Given the description of an element on the screen output the (x, y) to click on. 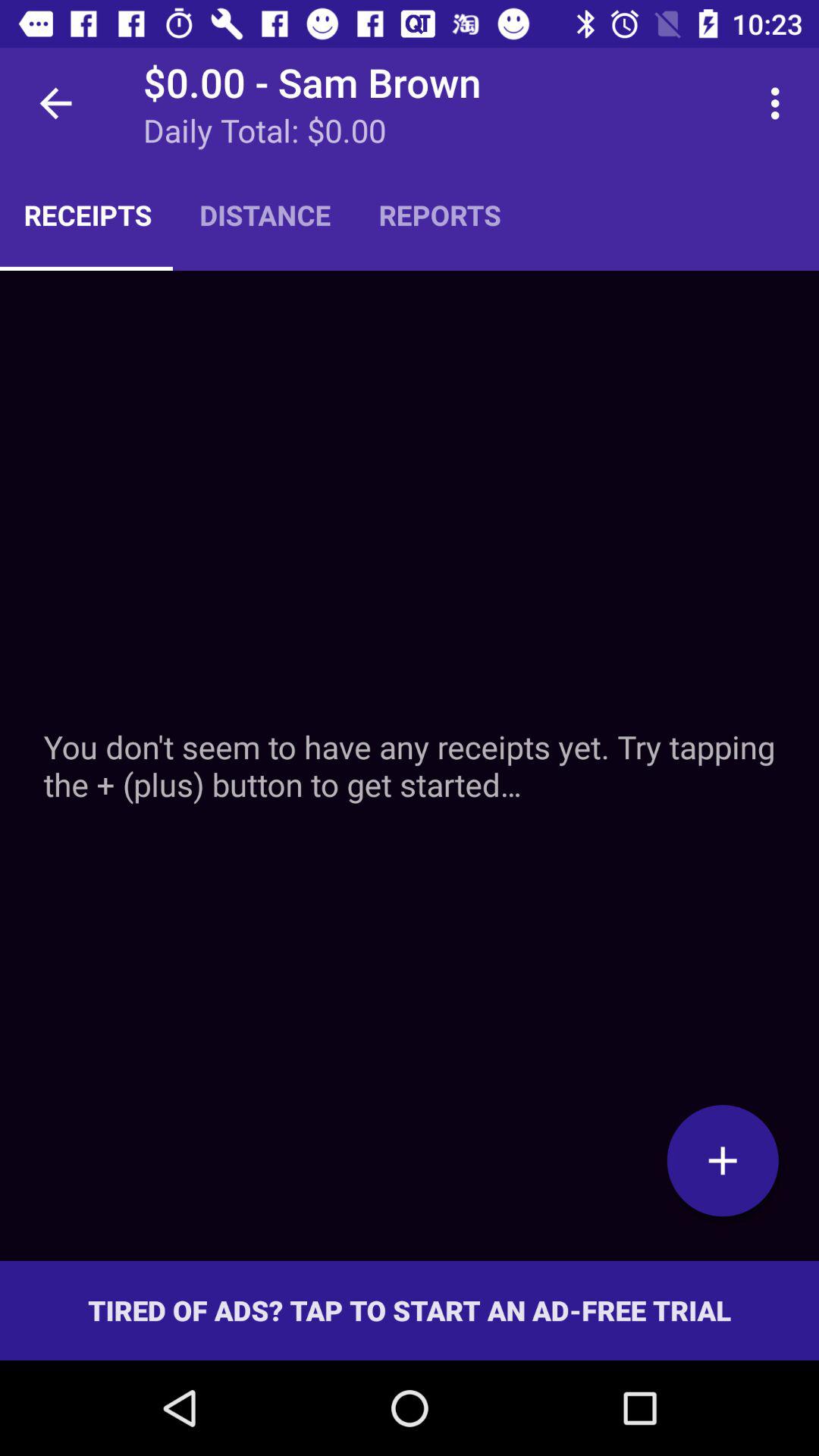
swipe until the reports item (439, 214)
